Given the description of an element on the screen output the (x, y) to click on. 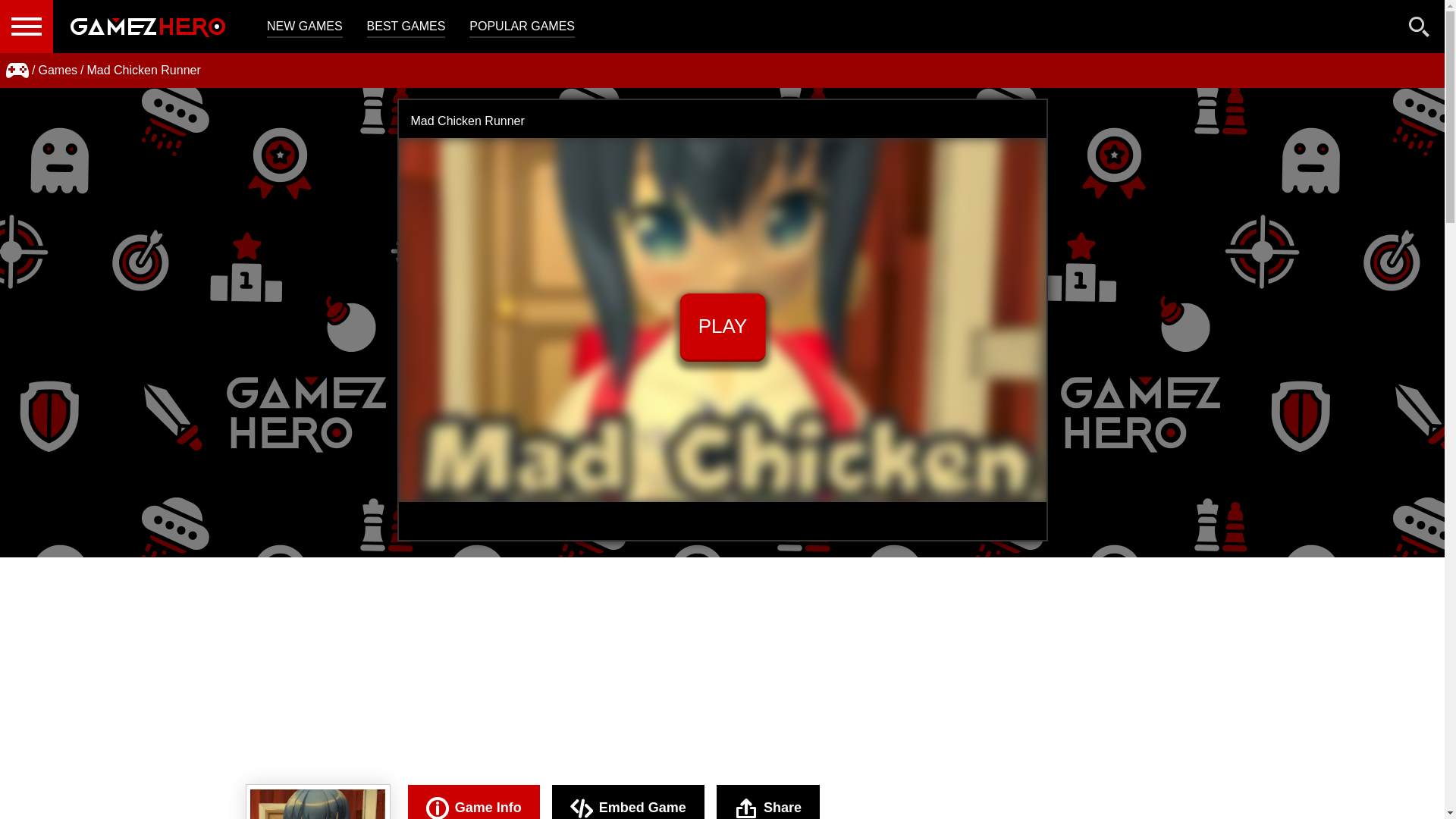
New Games (304, 27)
Gamezhero.com - Free Online Games. Play Free Games Online. (147, 26)
Best Games (405, 27)
Popular Games (521, 27)
Gamezhero.com - Free Online Games. Play Free Games Online. (147, 26)
POPULAR GAMES (521, 27)
NEW GAMES (304, 27)
BEST GAMES (405, 27)
